Given the description of an element on the screen output the (x, y) to click on. 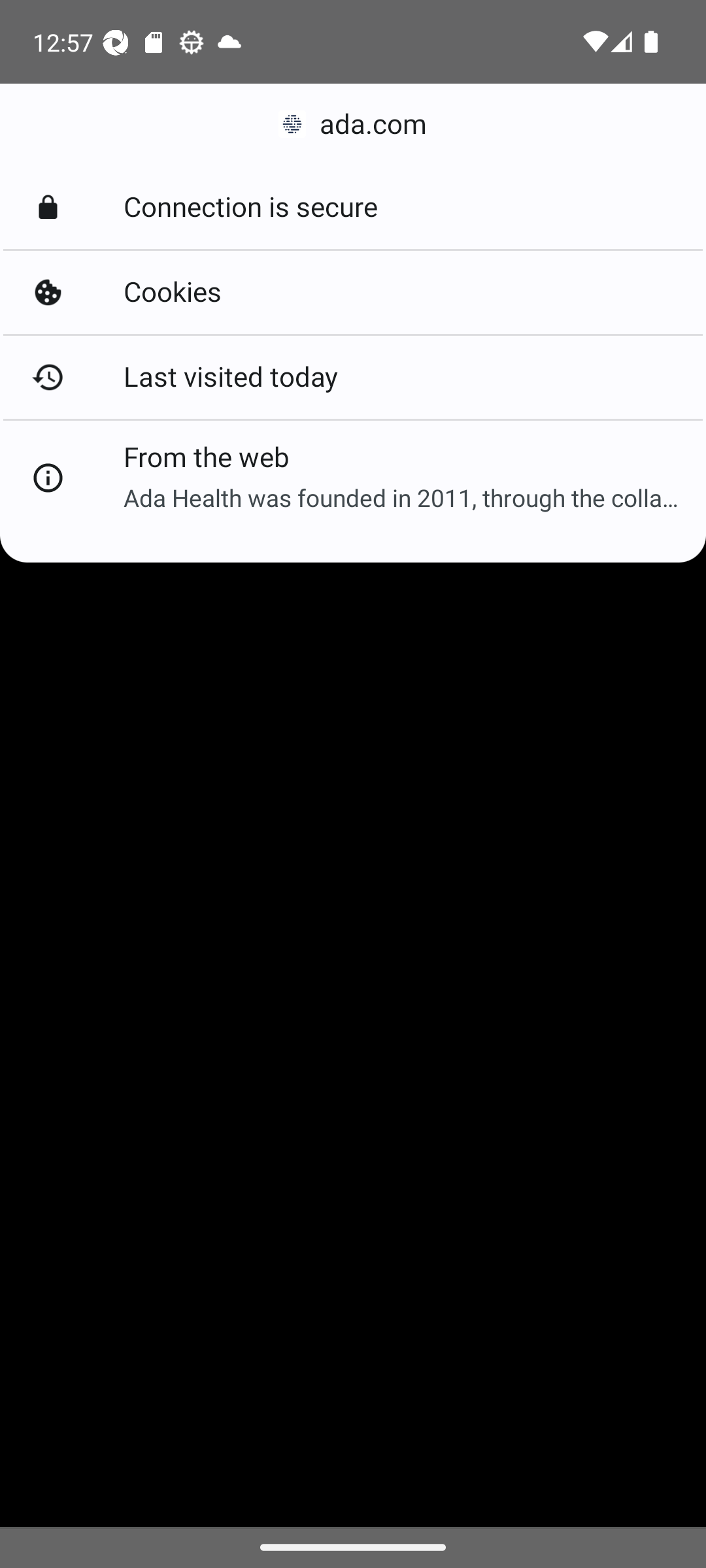
Search your phone and more (321, 149)
